Given the description of an element on the screen output the (x, y) to click on. 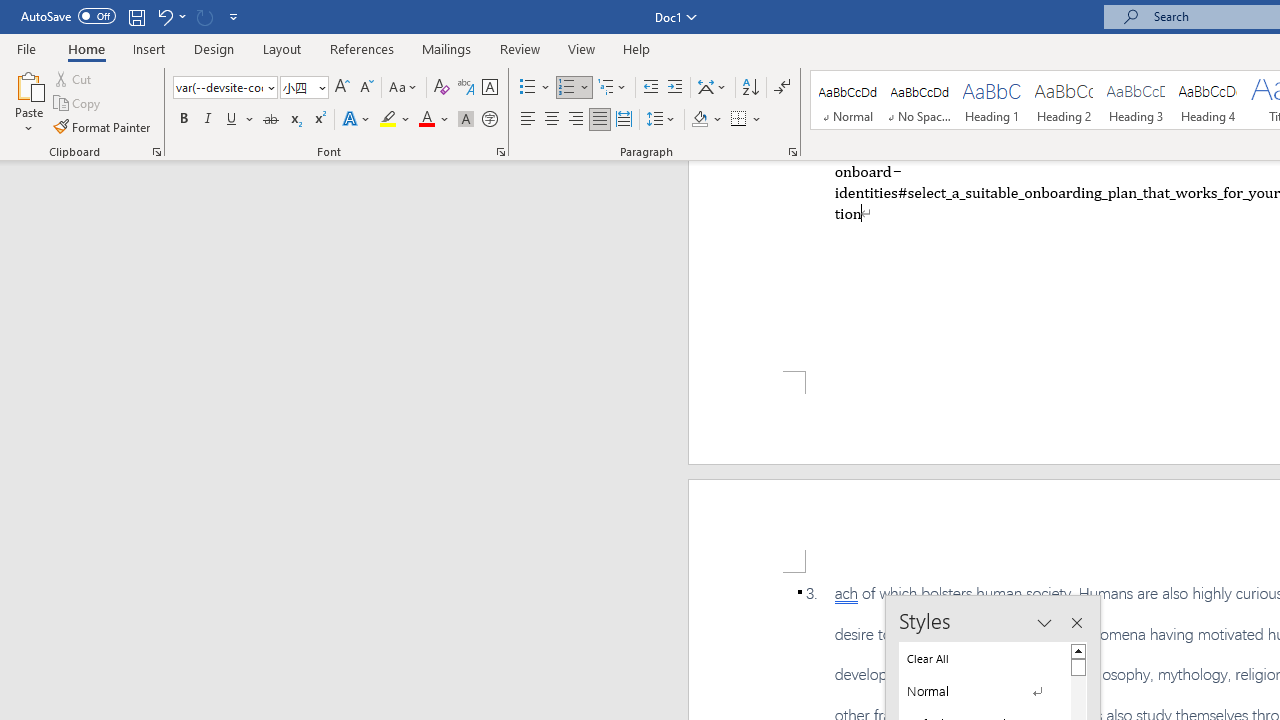
Heading 4 (1208, 100)
Heading 1 (991, 100)
Subscript (294, 119)
Paste (28, 84)
Design (214, 48)
Text Effects and Typography (357, 119)
Paste (28, 102)
Cut (73, 78)
Numbering (566, 87)
Borders (746, 119)
Customize Quick Access Toolbar (234, 15)
Align Left (527, 119)
Phonetic Guide... (465, 87)
System (10, 11)
Save (136, 15)
